Given the description of an element on the screen output the (x, y) to click on. 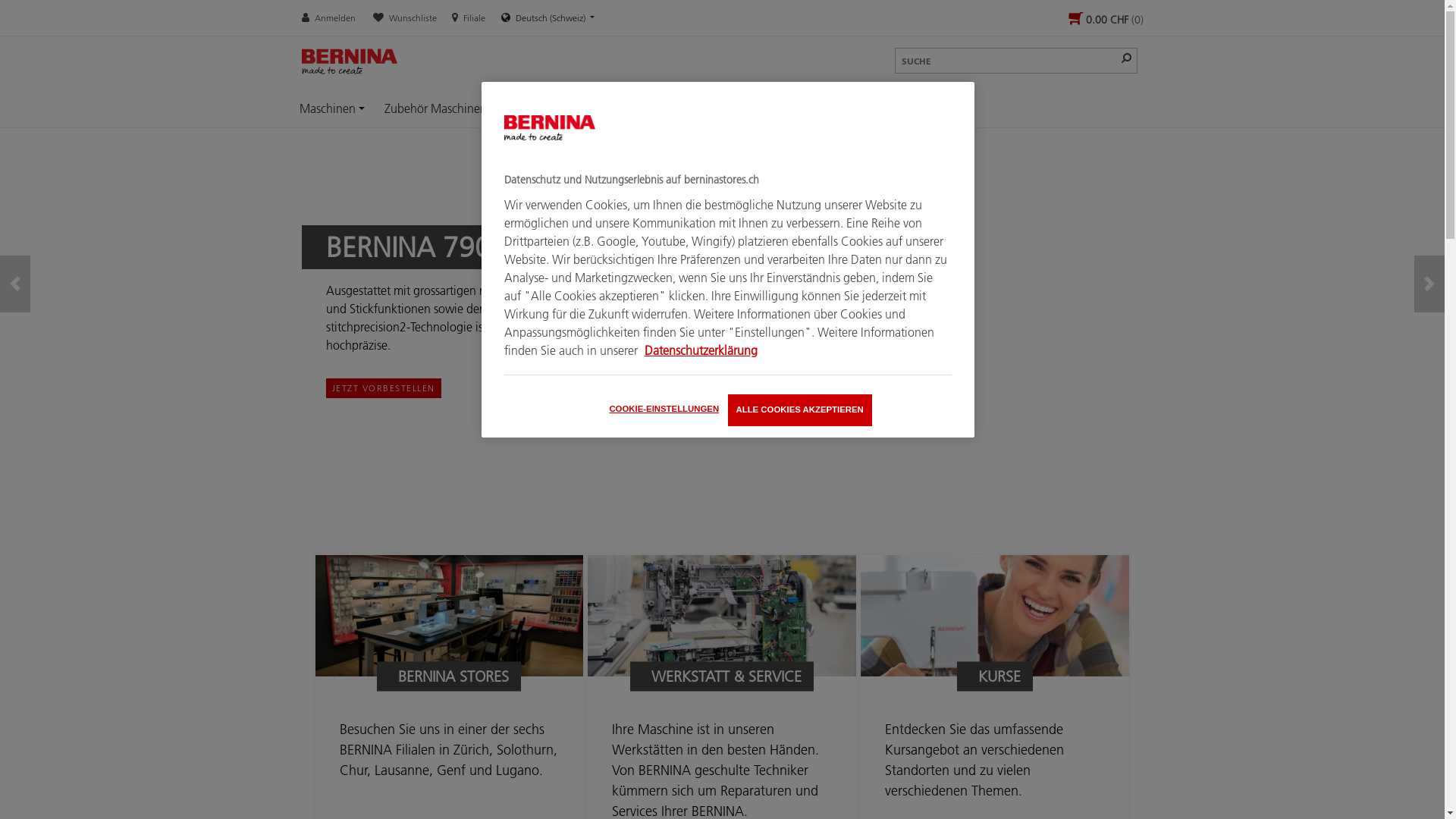
Next Element type: text (1429, 283)
COOKIE-EINSTELLUNGEN Element type: text (663, 409)
Gutscheine Element type: text (734, 108)
Promotionen % Element type: text (823, 108)
Wunschliste Element type: text (404, 17)
Maschinen Element type: text (331, 108)
Anmelden Element type: text (329, 17)
Previous Element type: text (15, 283)
Kurse Element type: text (666, 108)
ALLE COOKIES AKZEPTIEREN Element type: text (800, 410)
Mercerie Element type: text (601, 108)
ZUR PROMOTION Element type: text (374, 388)
0.00 CHF (0) Element type: text (1105, 19)
Stoffe Element type: text (534, 108)
Filiale Element type: text (468, 17)
BERNINA Stores Schweiz Startseite Element type: hover (362, 62)
